Given the description of an element on the screen output the (x, y) to click on. 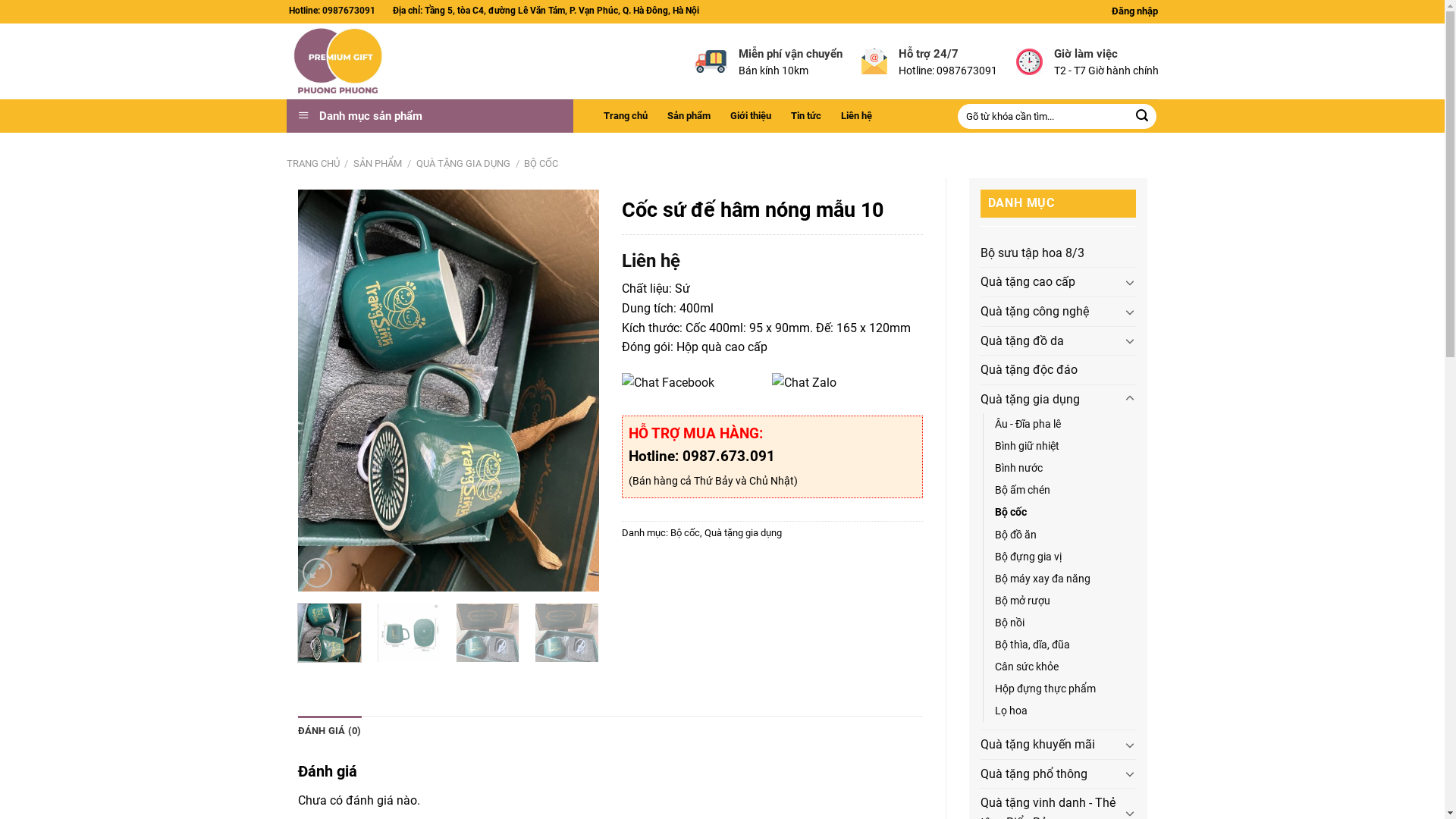
Chat Zalo Element type: hover (845, 383)
z2425587828956_360c2bf52c9f0c40b5e0c1dbfe4015e4 Element type: hover (447, 389)
0987673091 Element type: text (347, 10)
PREMIUM GIFT - PHUONG PHUONG Element type: hover (383, 61)
Chat FaceBook Element type: hover (695, 383)
